Given the description of an element on the screen output the (x, y) to click on. 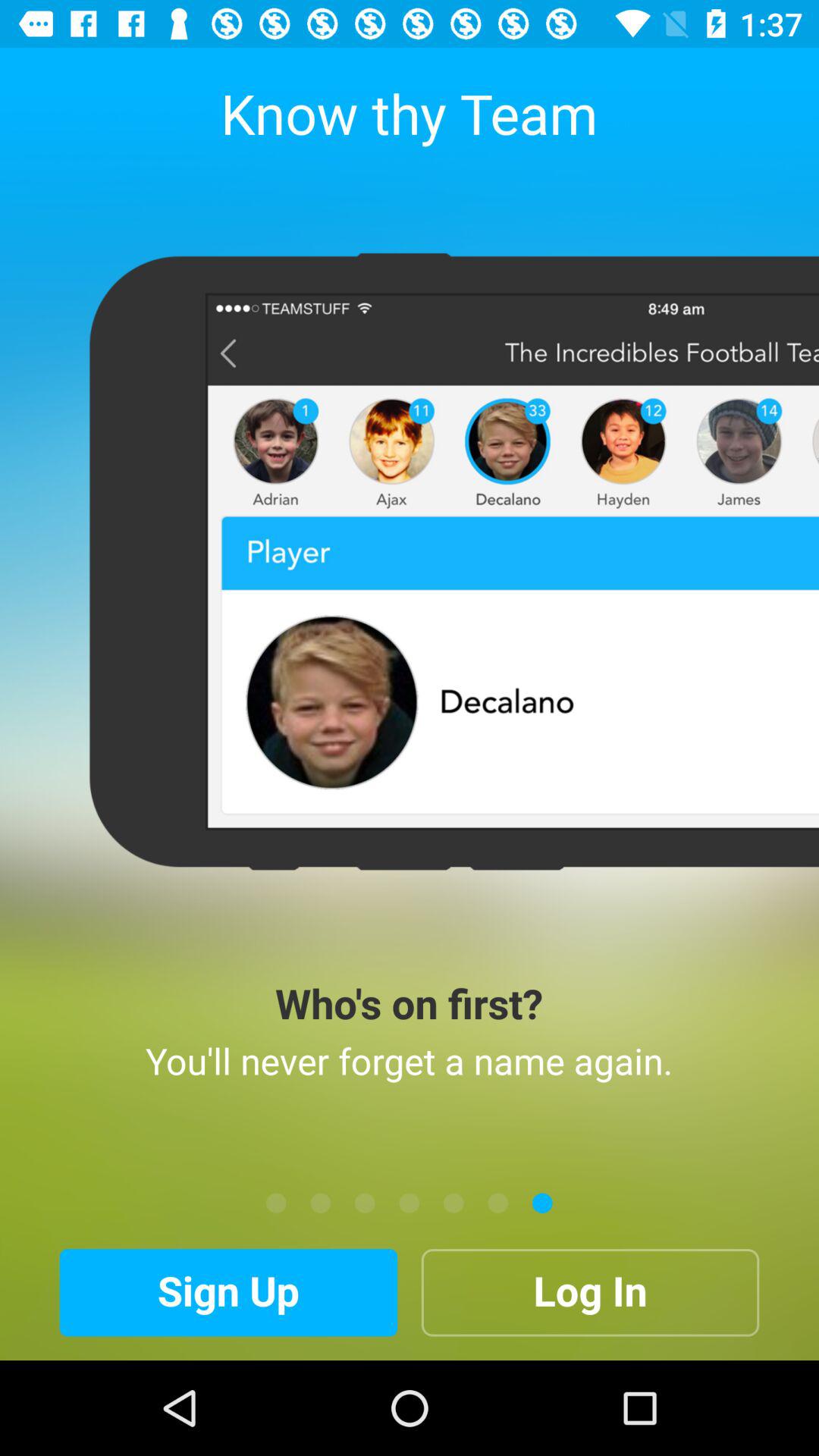
turn on the icon above the log in icon (498, 1203)
